Given the description of an element on the screen output the (x, y) to click on. 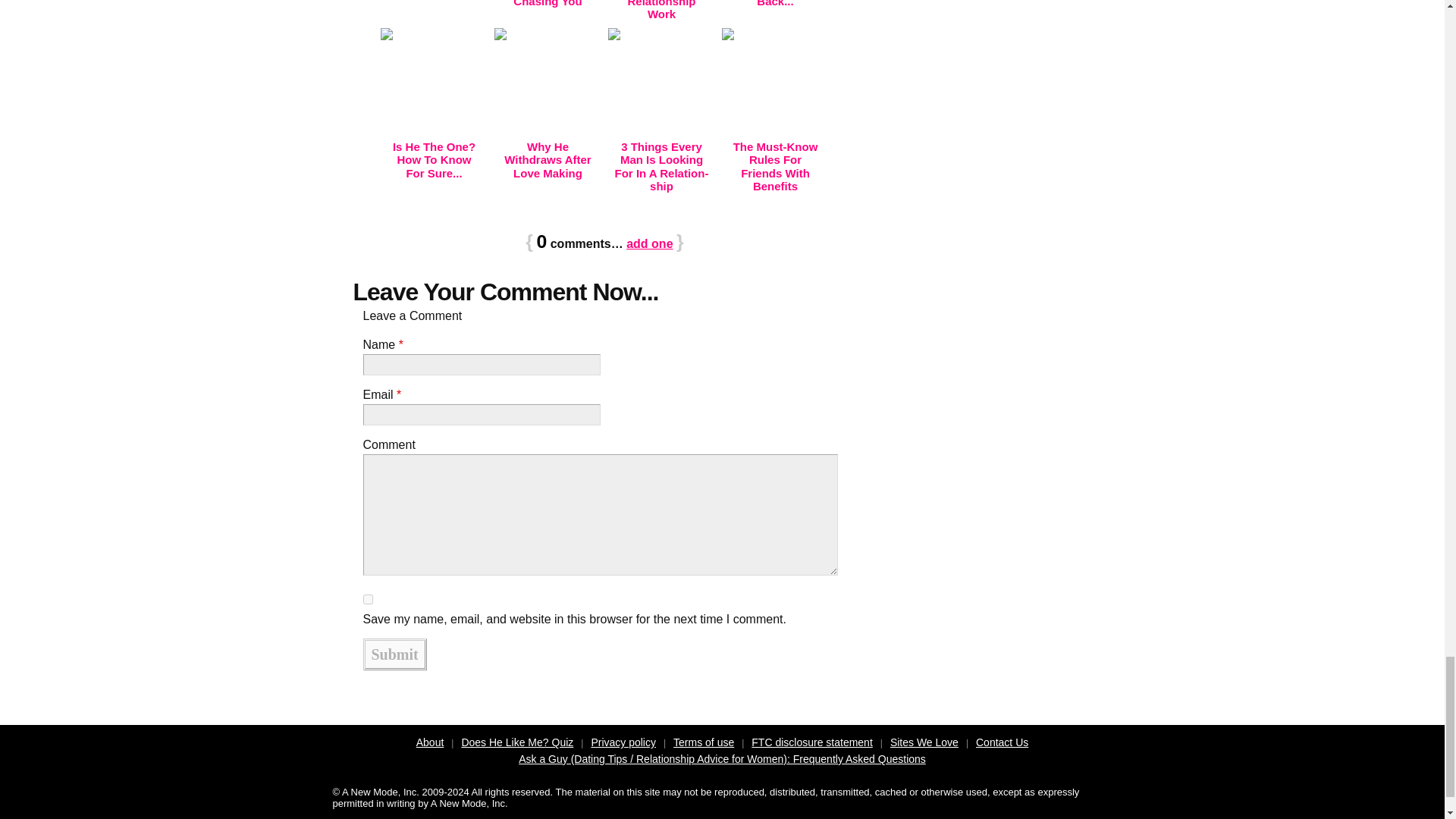
Submit (394, 654)
yes (367, 599)
